Given the description of an element on the screen output the (x, y) to click on. 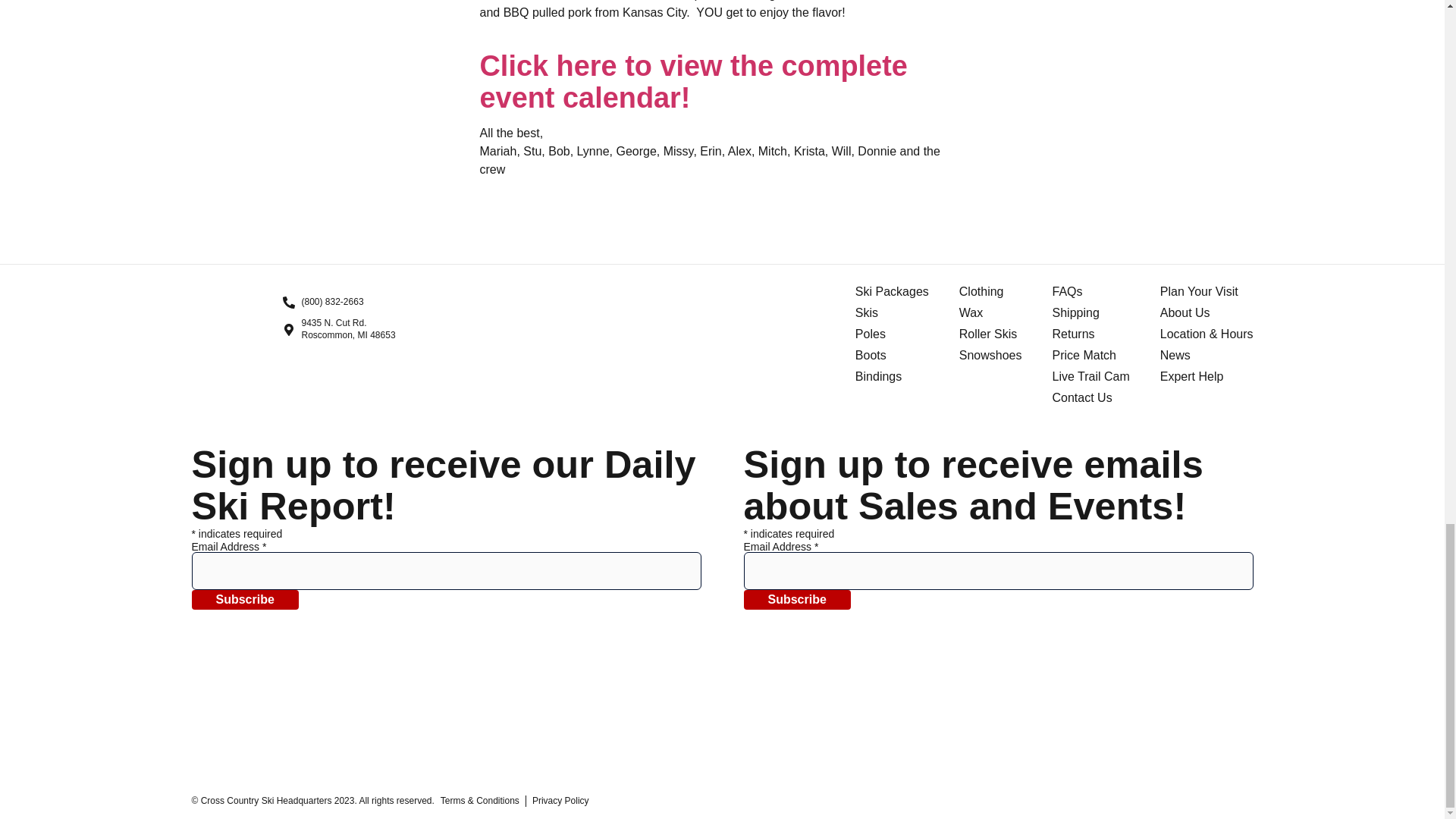
Snowshoes (990, 355)
Roller Skis (990, 334)
Subscribe (338, 329)
Wax (796, 599)
Ski Packages (990, 312)
Skis (892, 291)
Clothing (892, 312)
Poles (990, 291)
Boots (892, 334)
Click here to view the complete event calendar! (892, 355)
Subscribe (693, 81)
Bindings (244, 599)
